Given the description of an element on the screen output the (x, y) to click on. 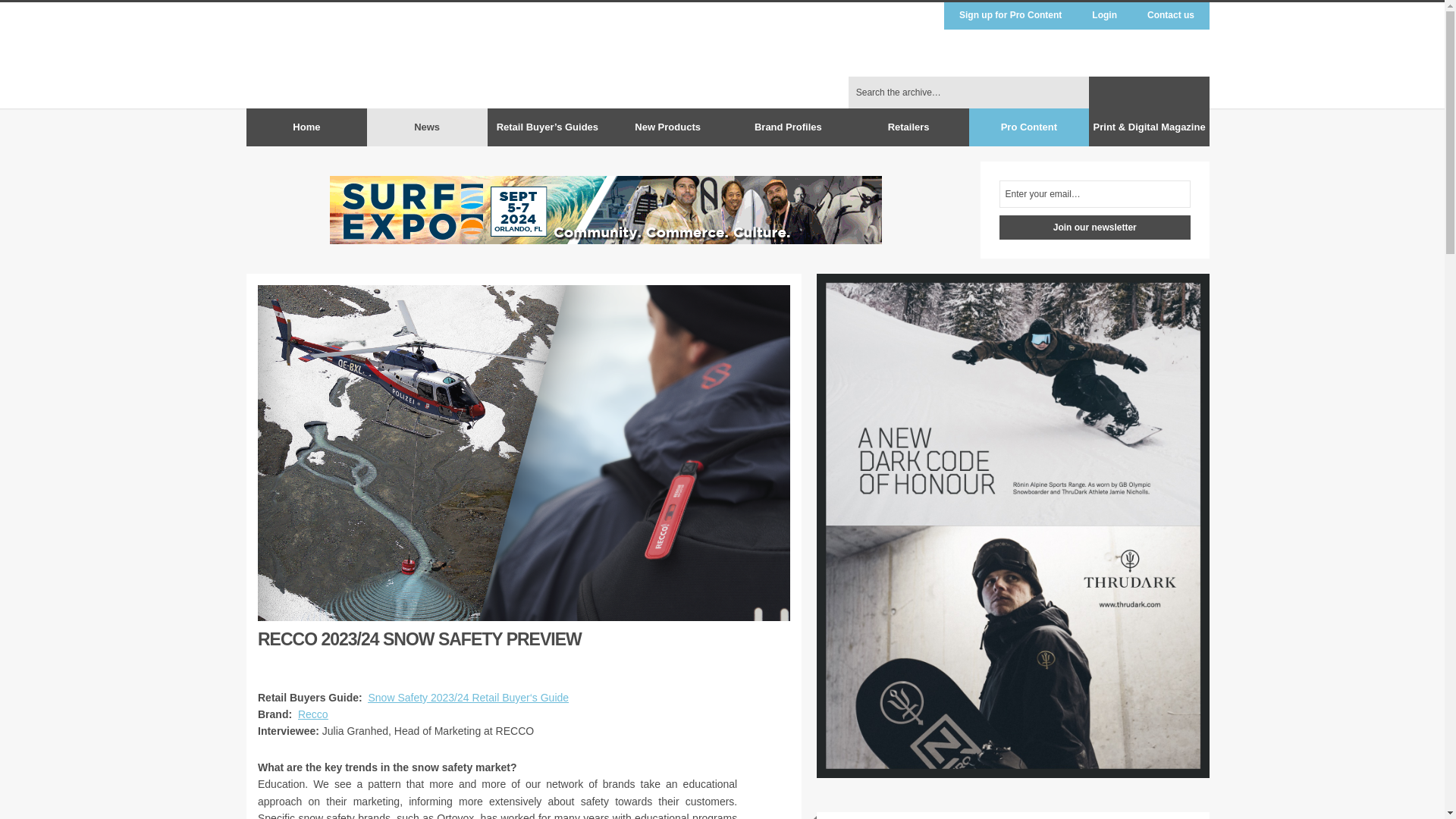
Recco (313, 714)
Boardsport SOURCE (360, 55)
Tweet us on Twitter (1134, 92)
News (426, 127)
Boardsport SOURCE (1068, 92)
Sign up for Pro Content (1010, 15)
Find us on Facebook (1104, 92)
Follow us on Instagram (1164, 92)
Connect with us on LinkedIn (1194, 92)
Join our newsletter (1094, 227)
Find us on Facebook (1104, 92)
Boardsport SOURCE (1068, 92)
New Products (667, 127)
Enlarge the advert (844, 301)
Tweet us on Twitter (1133, 92)
